Given the description of an element on the screen output the (x, y) to click on. 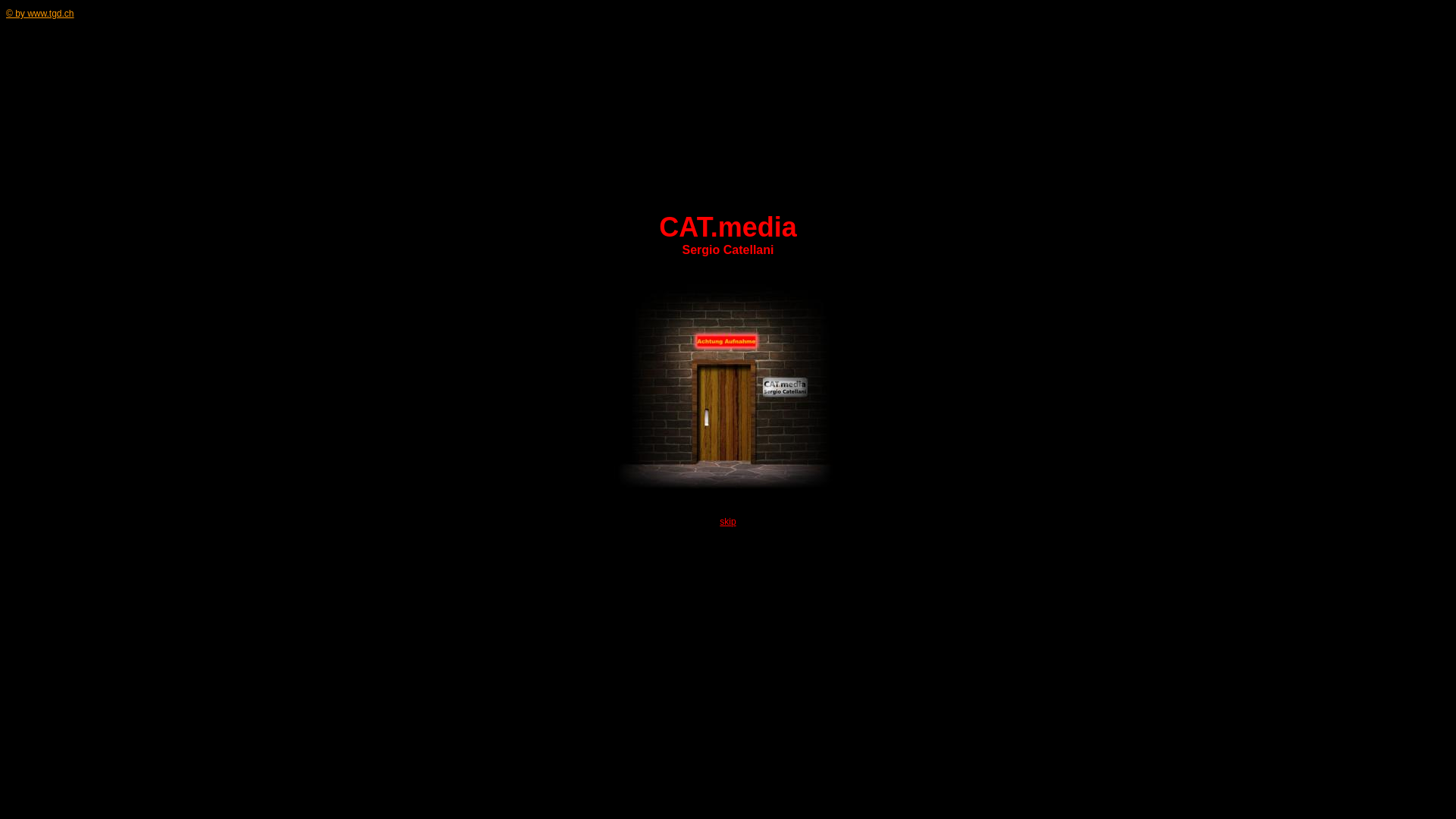
skip Element type: text (727, 521)
